Given the description of an element on the screen output the (x, y) to click on. 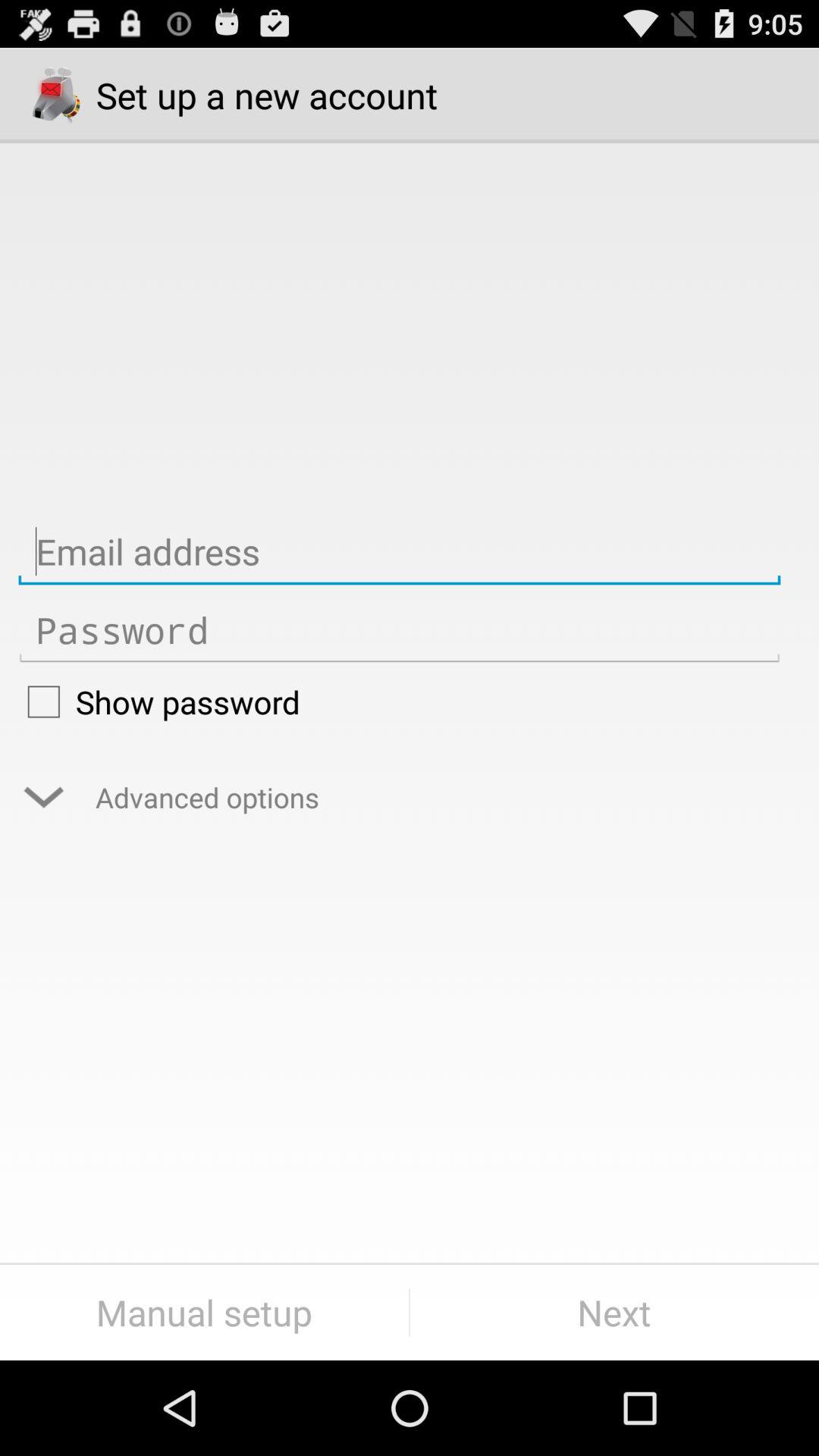
select the manual setup (204, 1312)
